Given the description of an element on the screen output the (x, y) to click on. 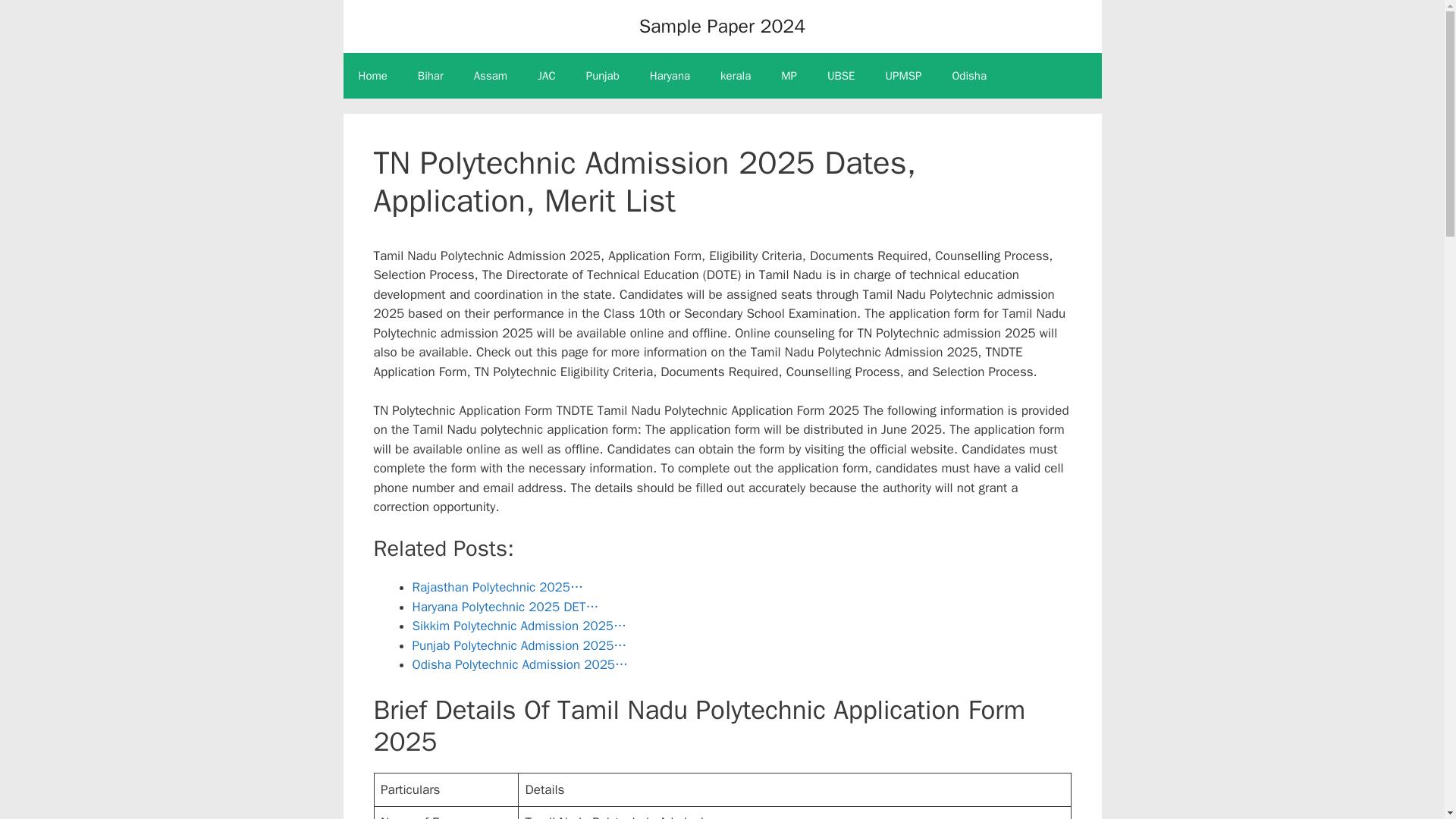
Odisha (968, 75)
kerala (734, 75)
UPMSP (903, 75)
Bihar (430, 75)
Assam (490, 75)
Punjab (602, 75)
Sample Paper 2024 (722, 25)
Haryana (669, 75)
Home (371, 75)
UBSE (841, 75)
